Given the description of an element on the screen output the (x, y) to click on. 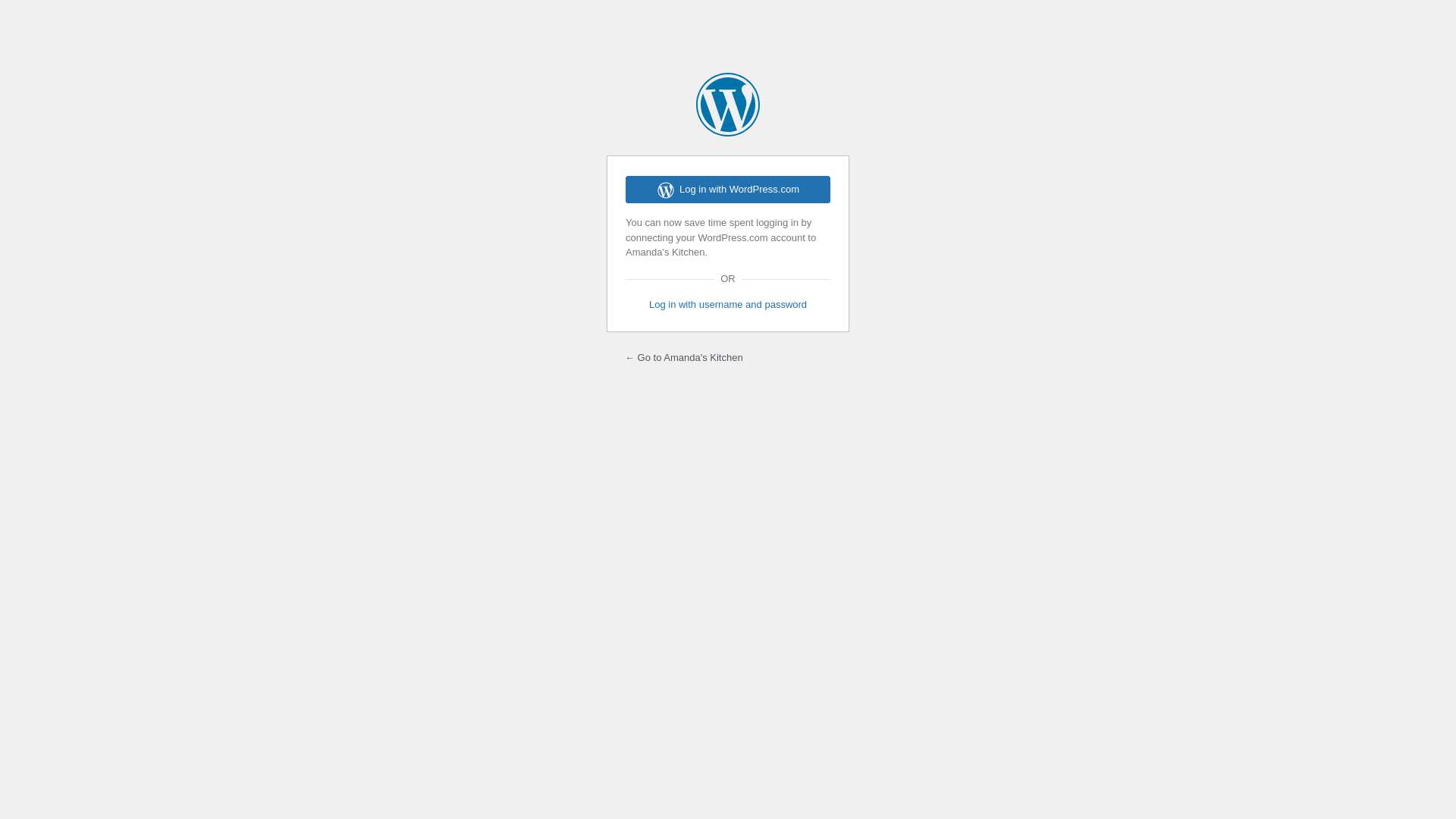
Log in with username and password Element type: text (727, 304)
Powered by WordPress Element type: text (727, 104)
Log in with WordPress.com Element type: text (727, 189)
